Given the description of an element on the screen output the (x, y) to click on. 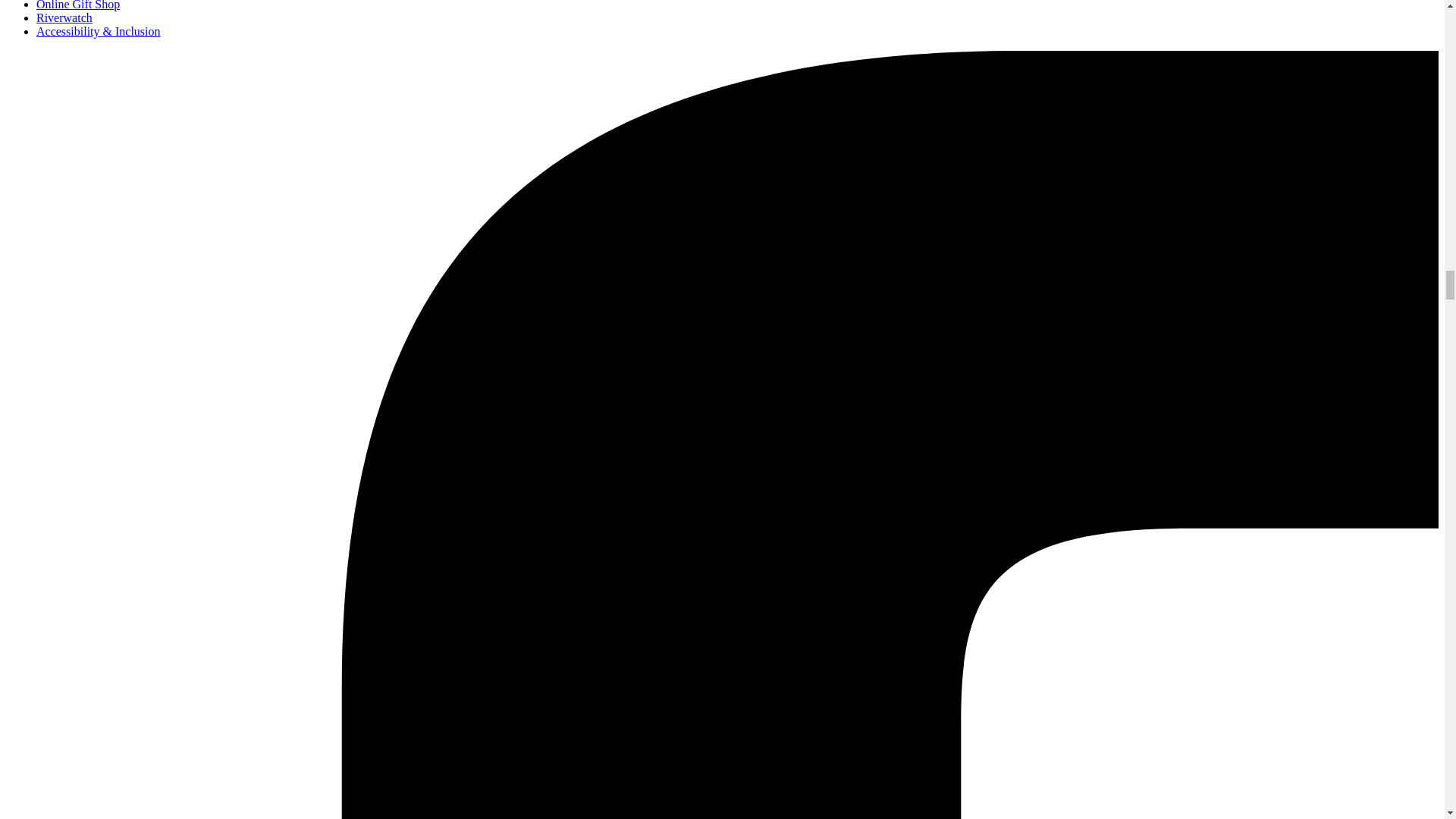
Online Gift Shop (77, 5)
Riverwatch (64, 17)
